Given the description of an element on the screen output the (x, y) to click on. 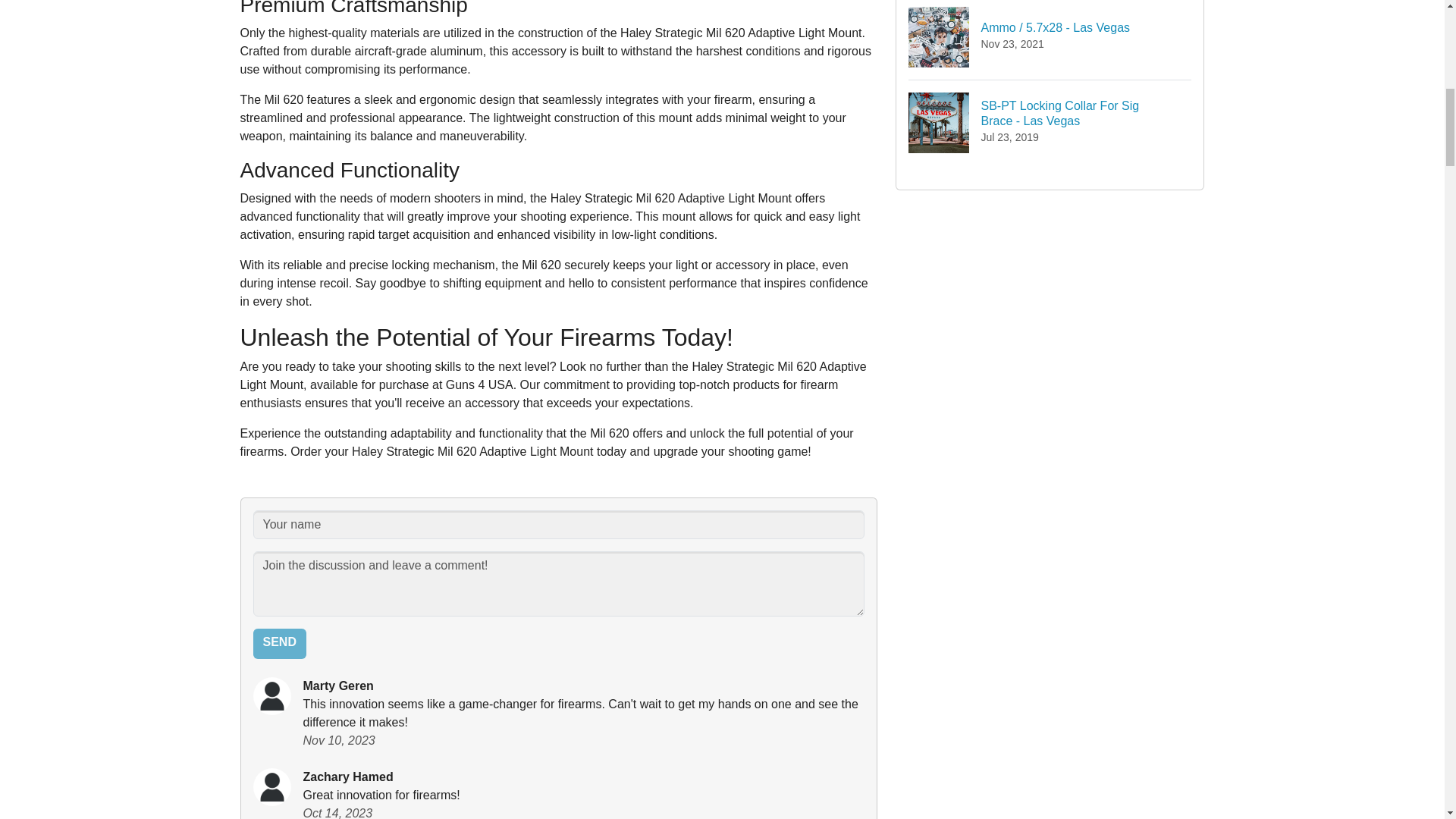
Send (1050, 122)
Send (279, 643)
